Given the description of an element on the screen output the (x, y) to click on. 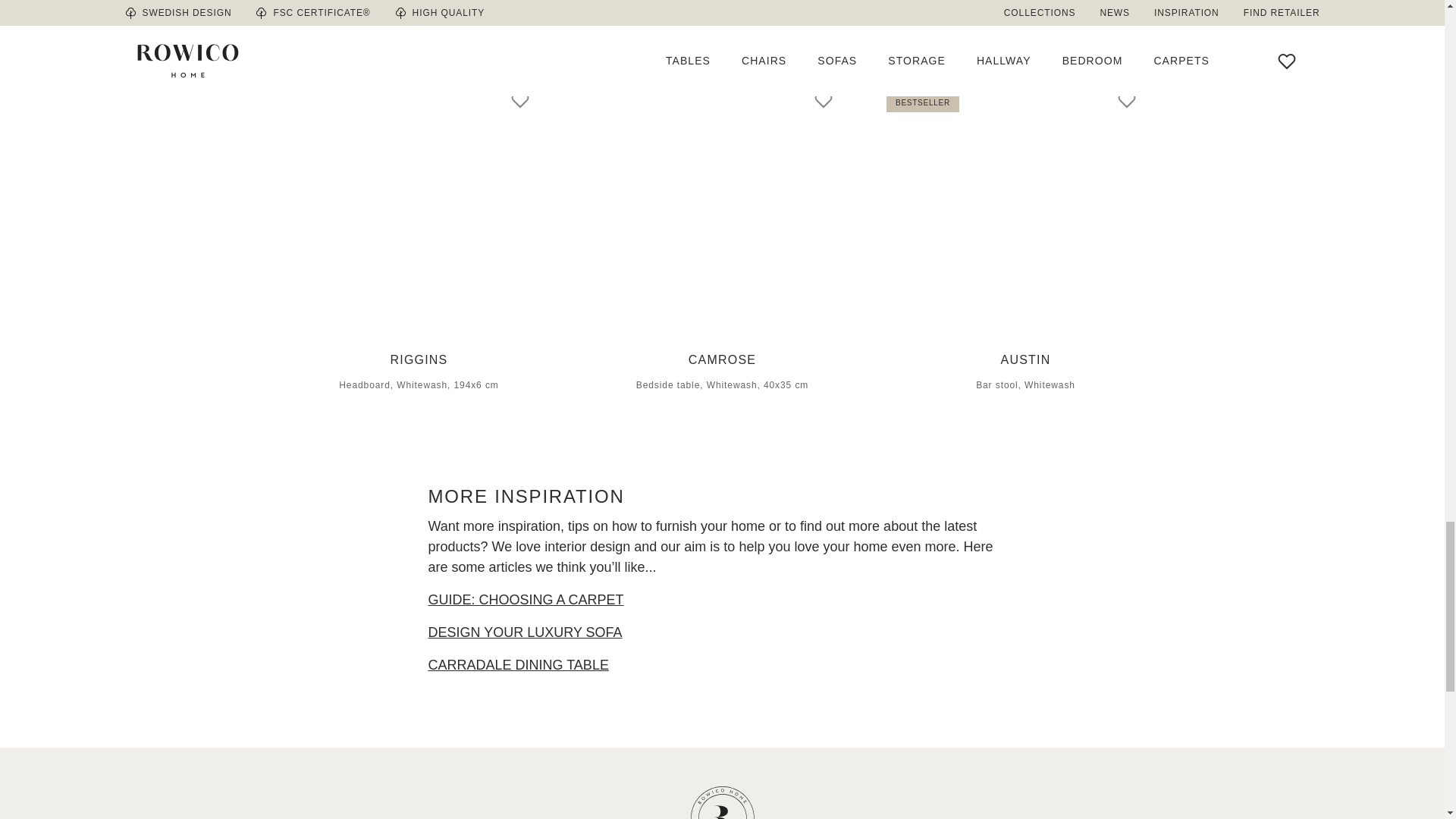
Scroll to top (722, 794)
